Given the description of an element on the screen output the (x, y) to click on. 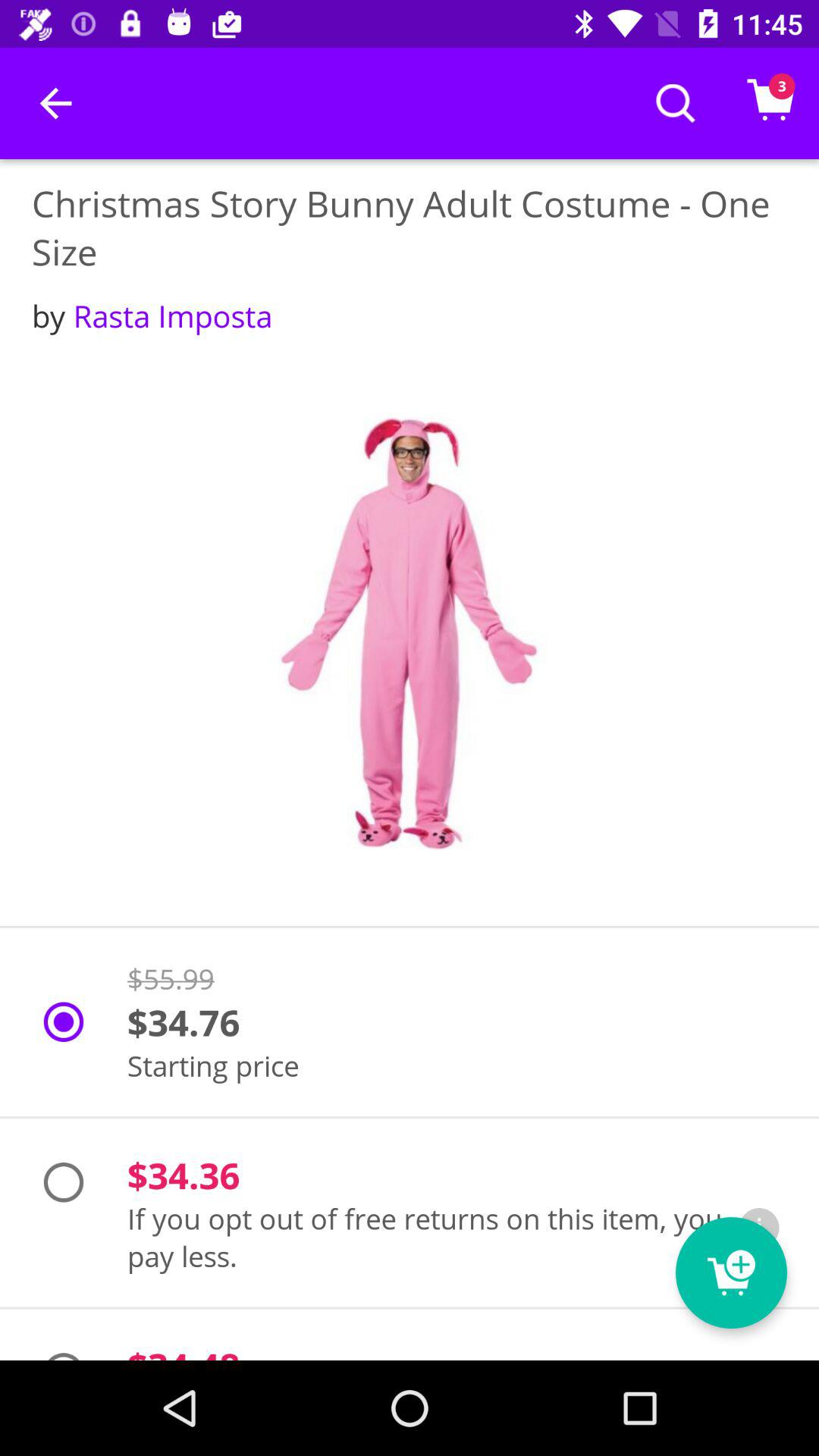
turn on the by rasta imposta item (151, 315)
